Given the description of an element on the screen output the (x, y) to click on. 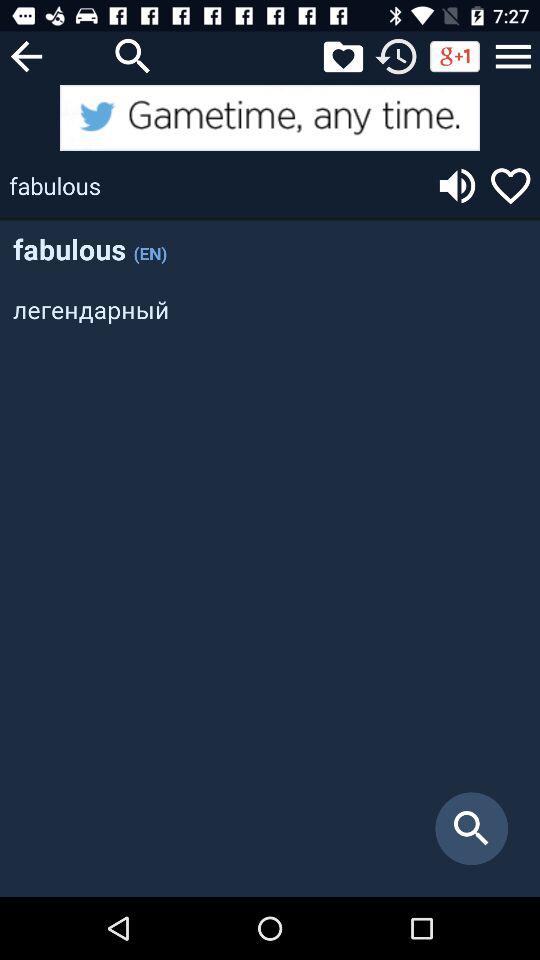
english to russian translation (270, 117)
